Given the description of an element on the screen output the (x, y) to click on. 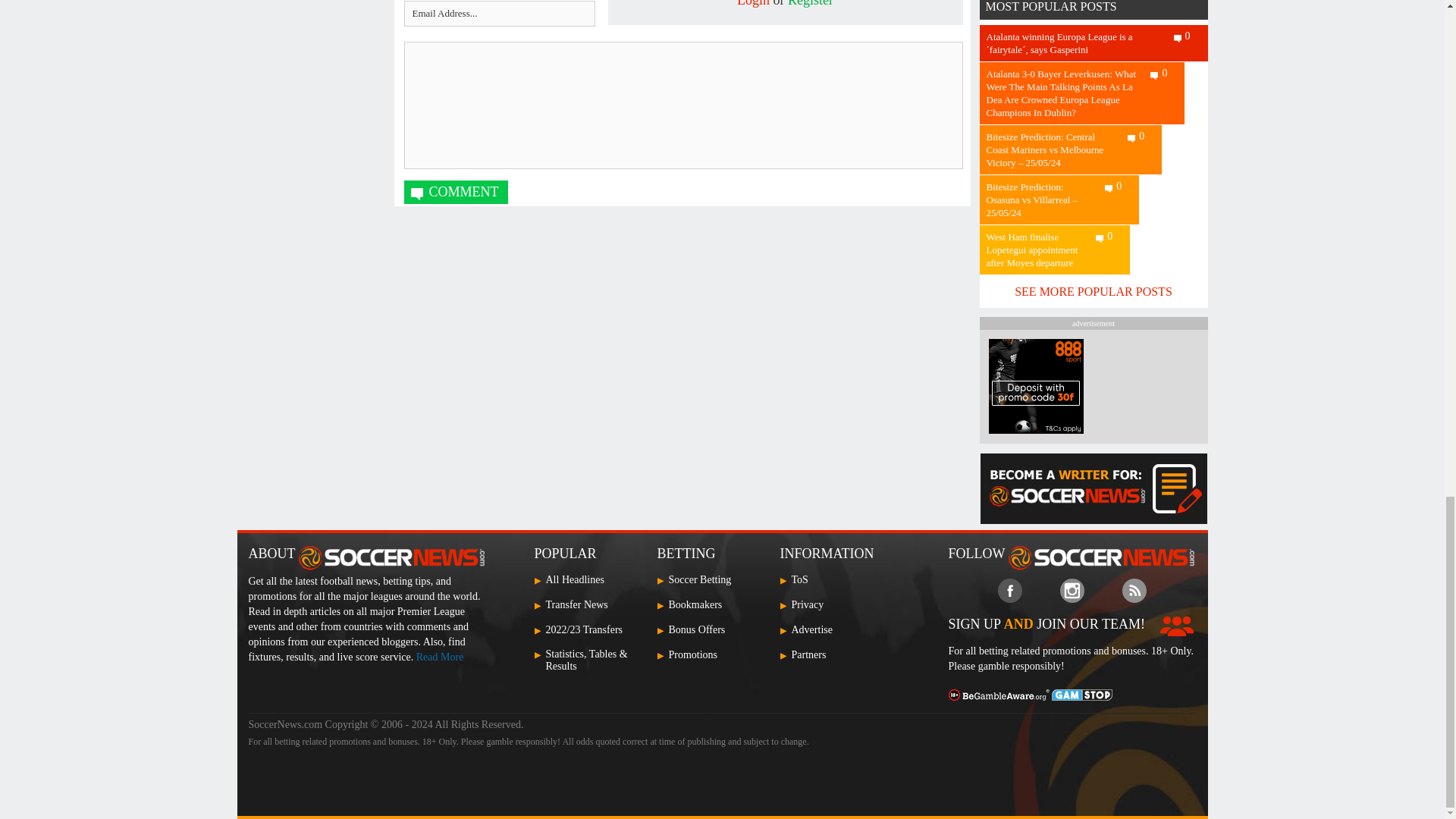
Comment (454, 191)
